Given the description of an element on the screen output the (x, y) to click on. 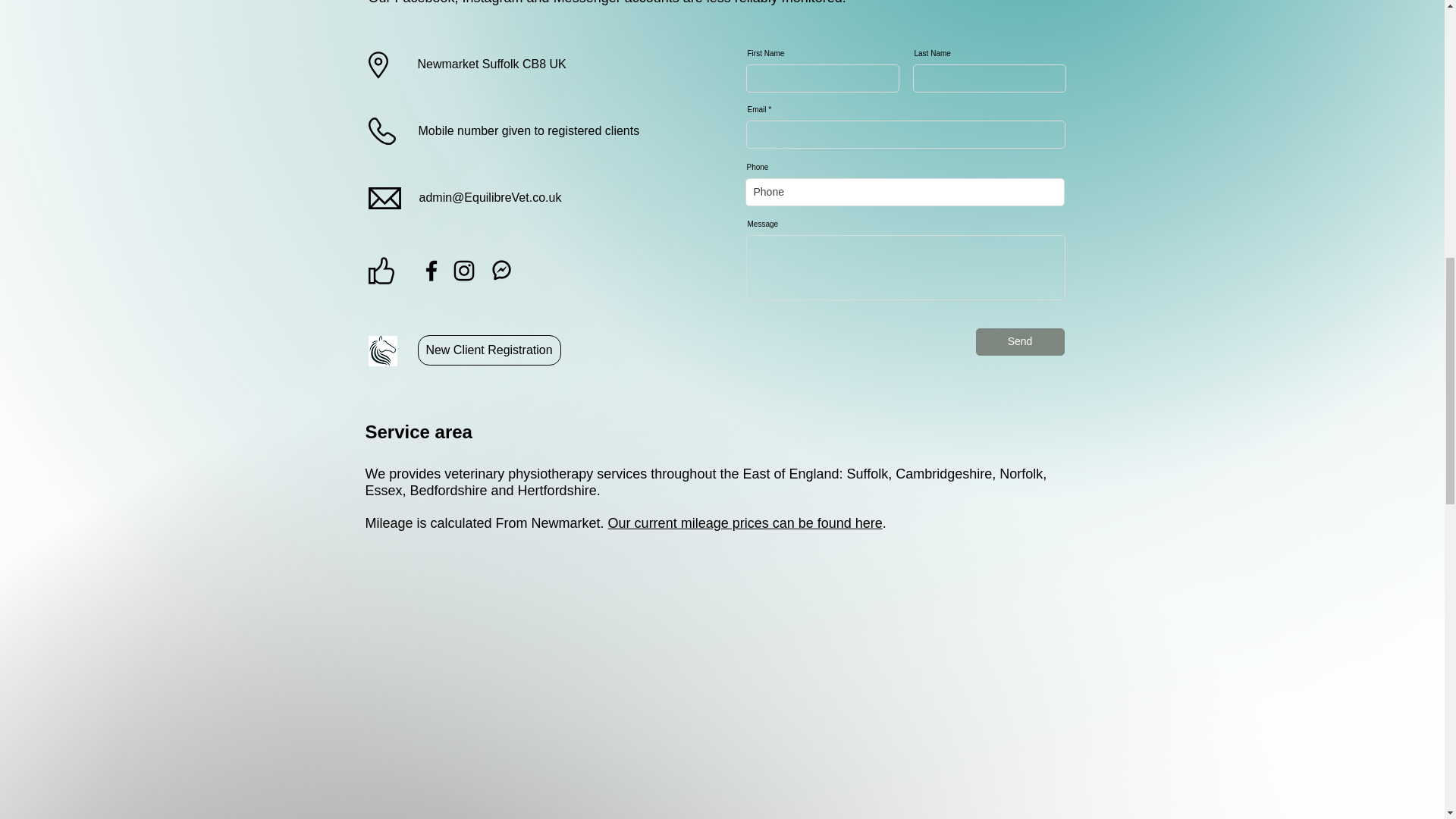
Send (1019, 341)
New Client Registration (488, 349)
Our current mileage prices can be found here (745, 522)
Mobile number given to registered clients (529, 130)
